Given the description of an element on the screen output the (x, y) to click on. 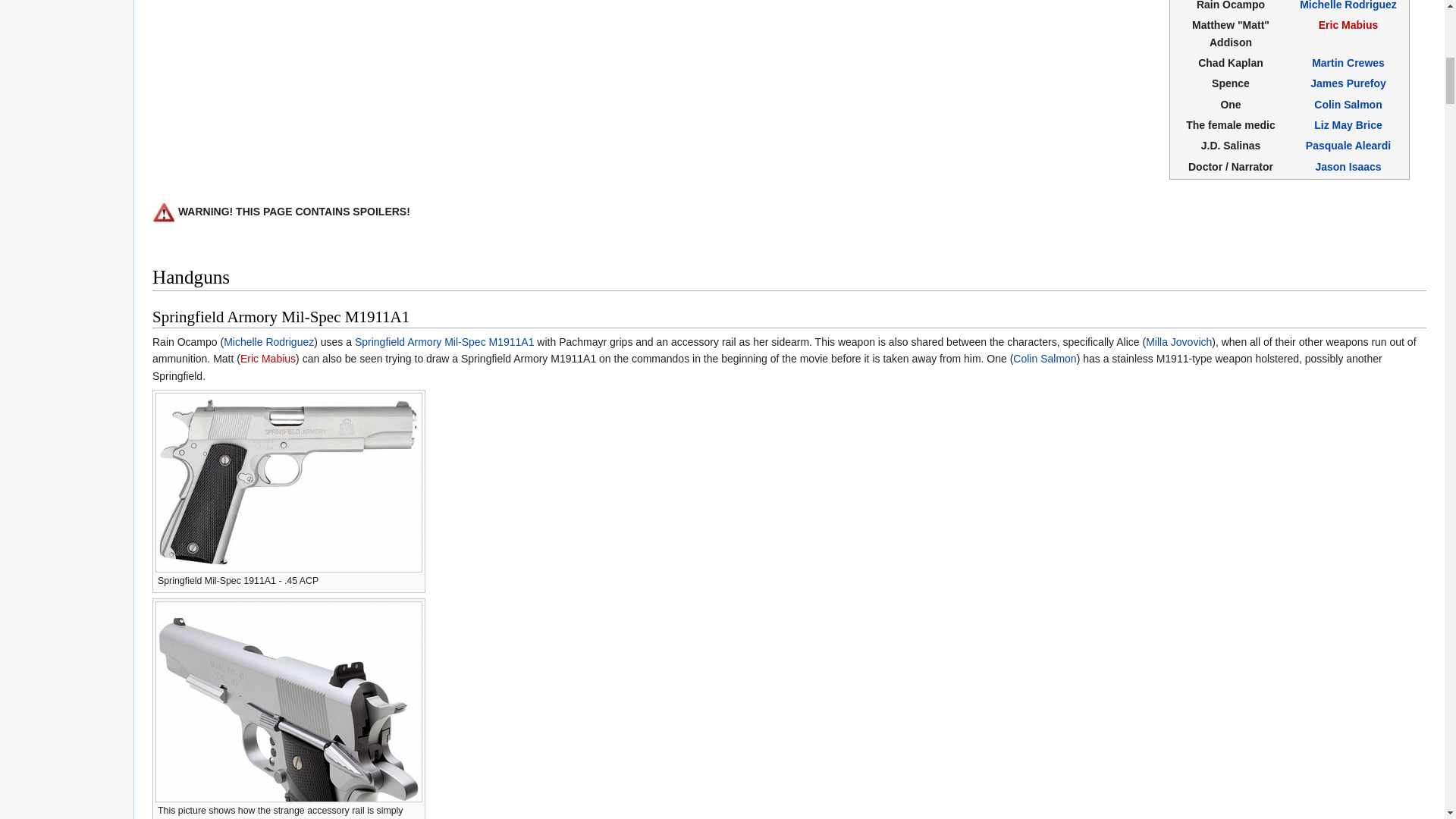
Pasquale Aleardi (1348, 145)
Martin Crewes (1347, 62)
Jason Isaacs (1347, 166)
James Purefoy (1348, 82)
James Purefoy (1348, 82)
Michelle Rodriguez (1348, 5)
Pasquale Aleardi (1348, 145)
Michelle Rodriguez (269, 341)
Colin Salmon (1347, 104)
Springfield Armory Mil-Spec M1911A1 (444, 341)
